Given the description of an element on the screen output the (x, y) to click on. 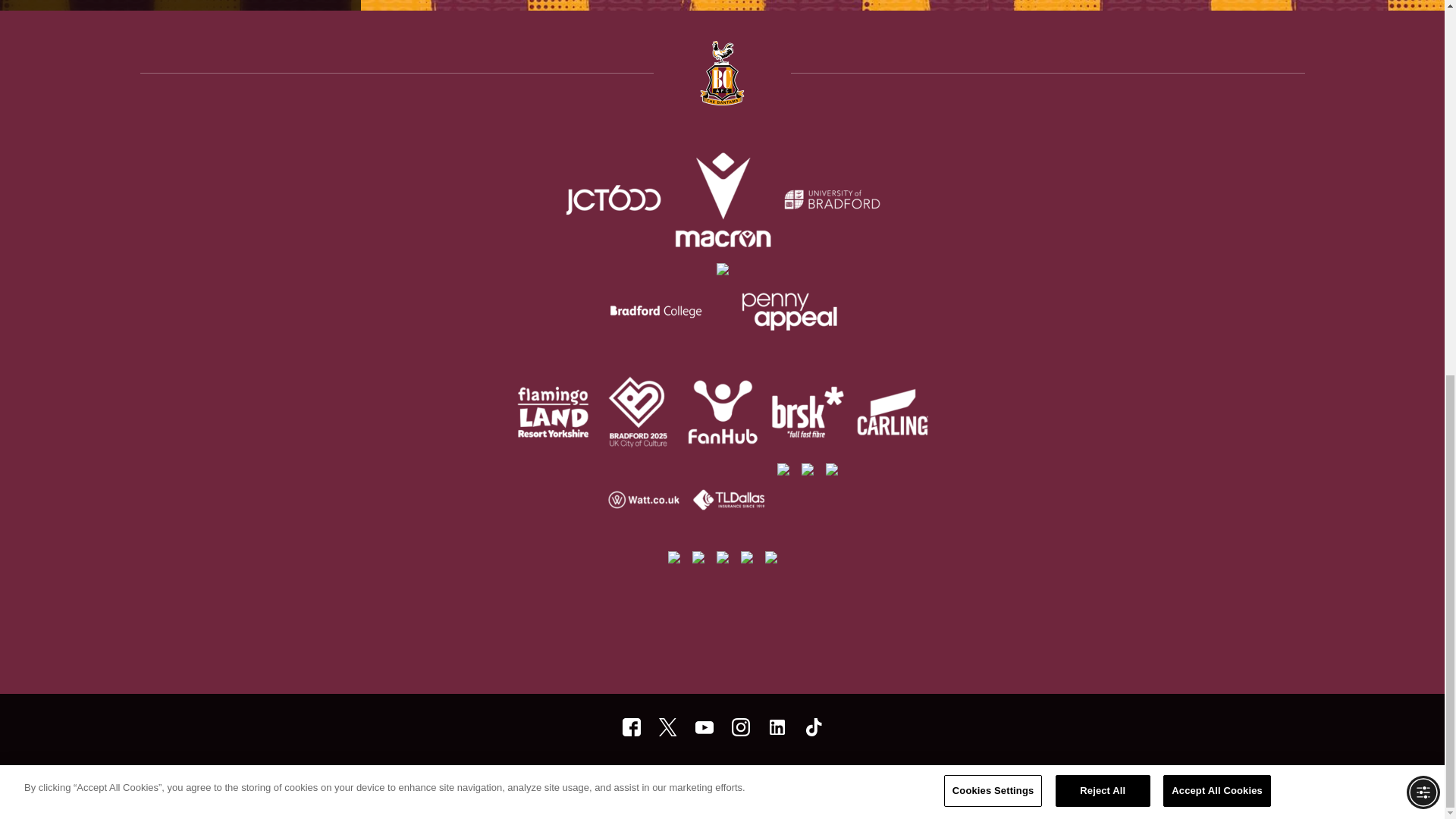
Accessibility (719, 779)
officialbantams (630, 727)
Company Details (796, 779)
Privacy Policy (648, 779)
Accessibility Menu (1422, 101)
Bradford City AFC (776, 727)
Contact Us (872, 779)
Terms of Use (575, 779)
